Given the description of an element on the screen output the (x, y) to click on. 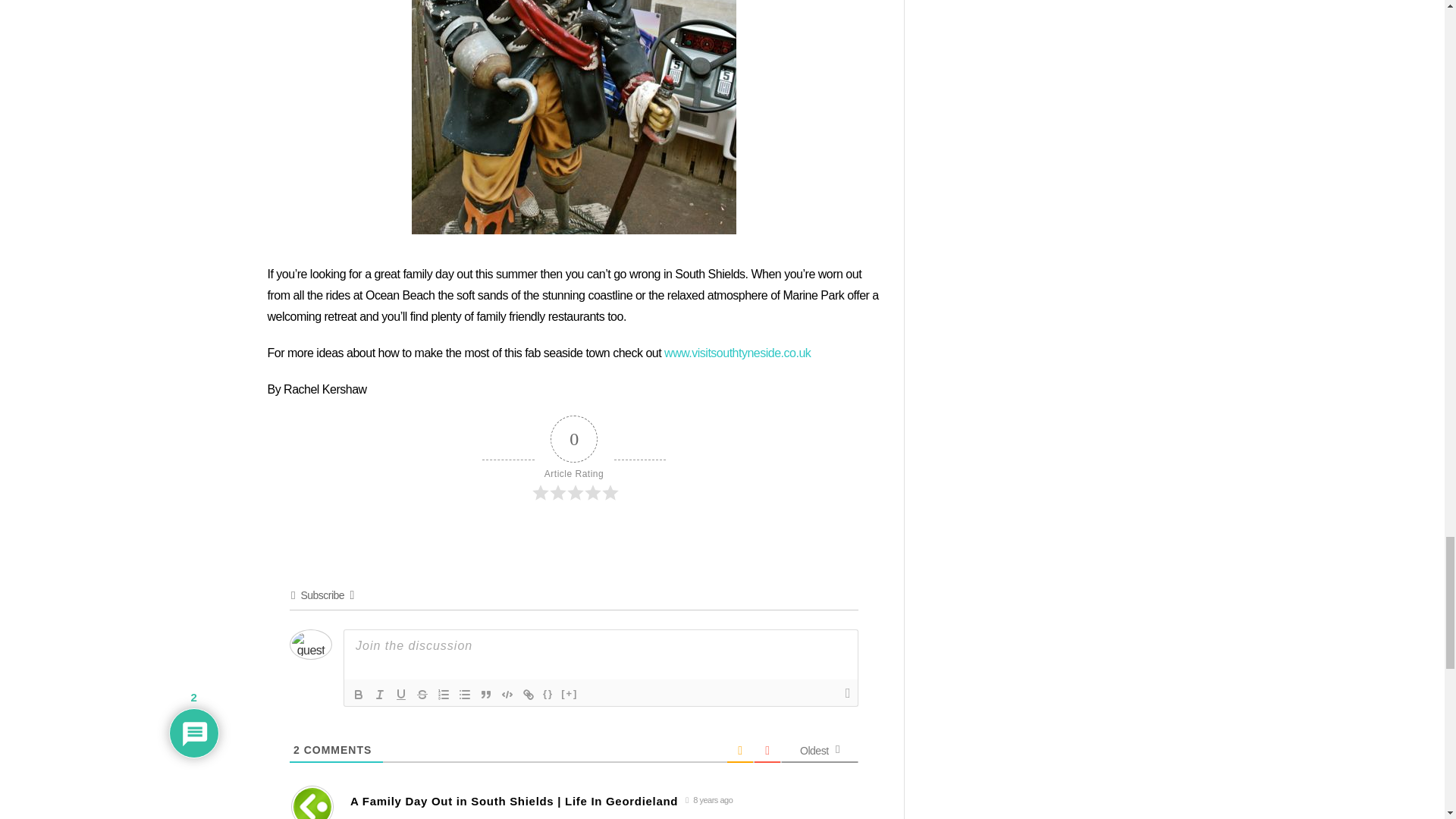
Link (528, 694)
Unordered List (465, 694)
Underline (401, 694)
Blockquote (486, 694)
Code Block (507, 694)
Ordered List (443, 694)
Source Code (547, 694)
Bold (358, 694)
www.visitsouthtyneside.co.uk  (738, 352)
Strike (422, 694)
Spoiler (568, 694)
Italic (379, 694)
